Given the description of an element on the screen output the (x, y) to click on. 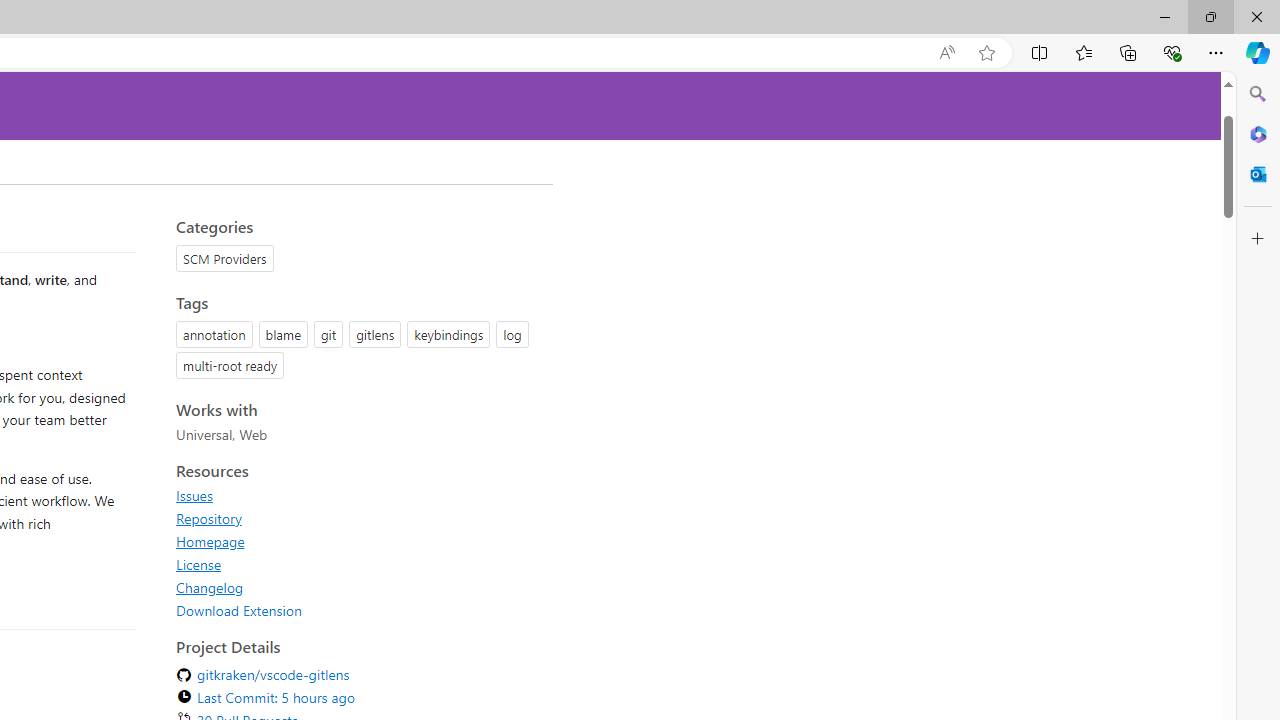
Homepage (358, 541)
Changelog (210, 587)
Microsoft 365 (1258, 133)
Close (1256, 16)
Customize (1258, 239)
Changelog (358, 587)
Copilot (Ctrl+Shift+.) (1258, 52)
Search (1258, 94)
Settings and more (Alt+F) (1215, 52)
Issues (358, 495)
Homepage (210, 541)
